Given the description of an element on the screen output the (x, y) to click on. 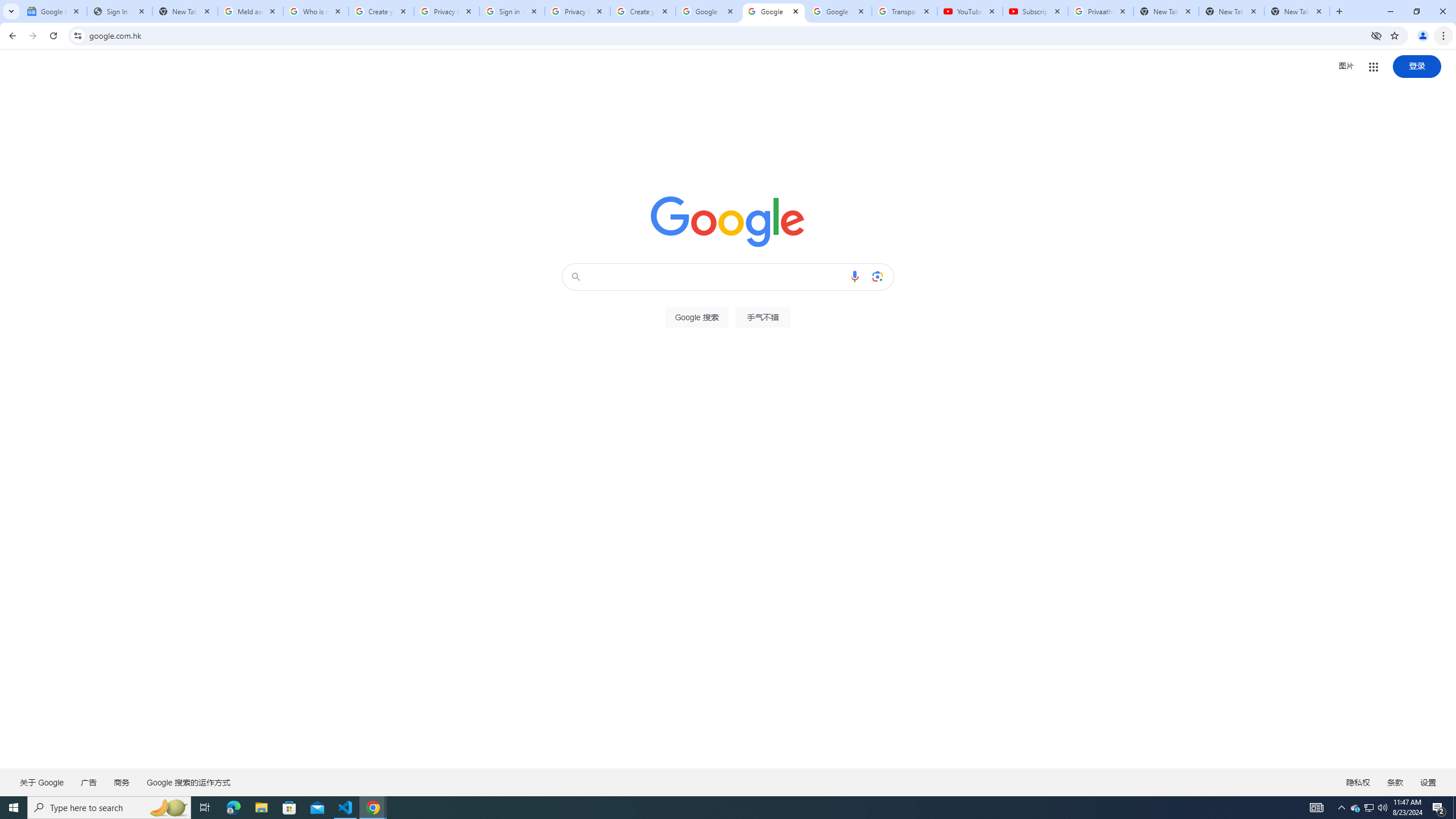
Subscriptions - YouTube (1035, 11)
Create your Google Account (643, 11)
Google (772, 11)
Who is my administrator? - Google Account Help (315, 11)
Google News (53, 11)
YouTube (969, 11)
